Given the description of an element on the screen output the (x, y) to click on. 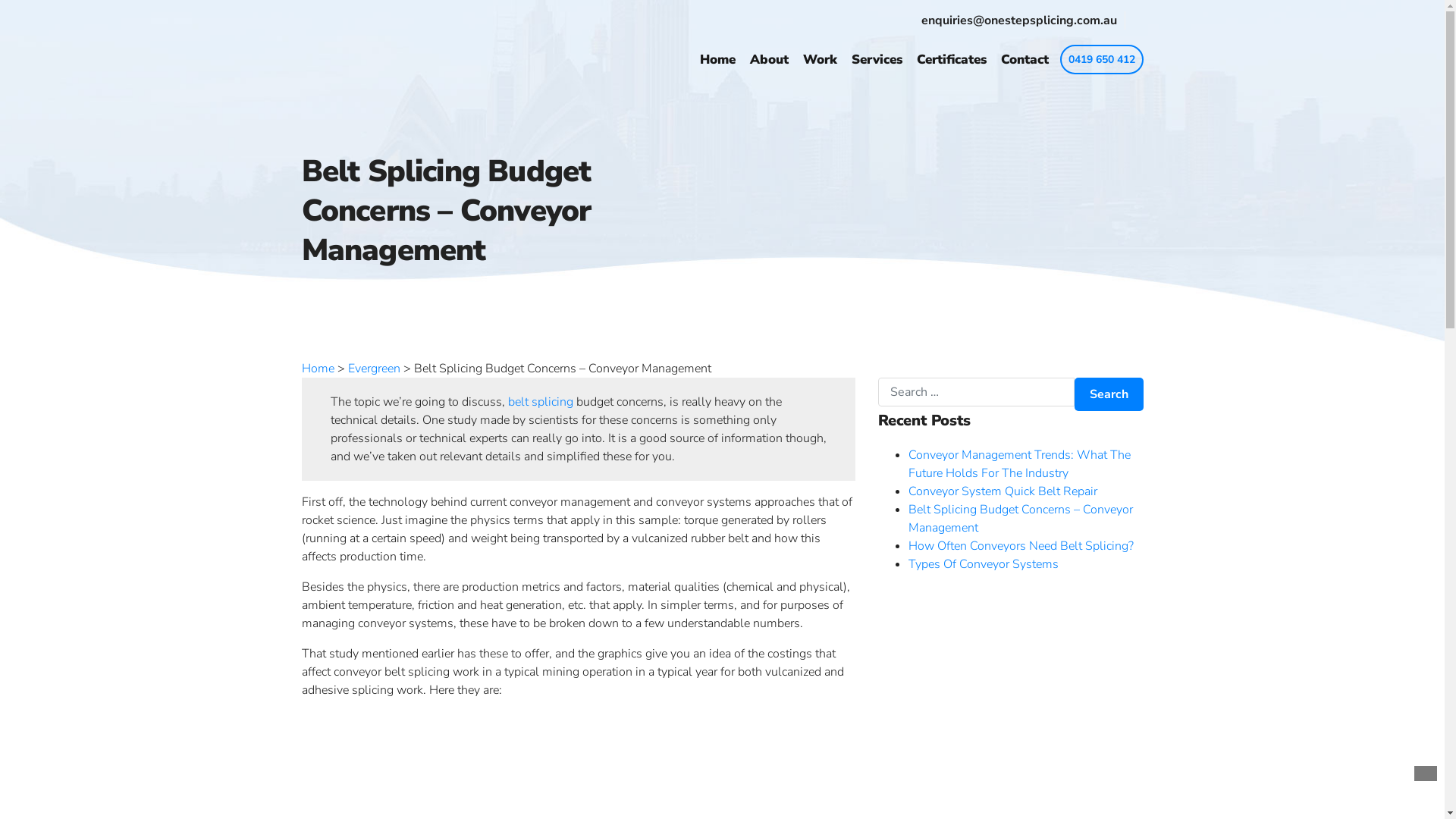
About Element type: text (768, 59)
Work Element type: text (819, 59)
Home Element type: text (317, 368)
Services Element type: text (875, 59)
Evergreen Element type: text (373, 368)
belt splicing Element type: text (540, 401)
Home Element type: text (716, 59)
How Often Conveyors Need Belt Splicing? Element type: text (1020, 545)
0419 650 412 Element type: text (1101, 59)
Certificates Element type: text (950, 59)
Types Of Conveyor Systems Element type: text (983, 563)
Contact Element type: text (1024, 59)
enquiries@onestepsplicing.com.au Element type: text (1018, 20)
Search Element type: text (1107, 394)
Conveyor System Quick Belt Repair Element type: text (1002, 491)
